Given the description of an element on the screen output the (x, y) to click on. 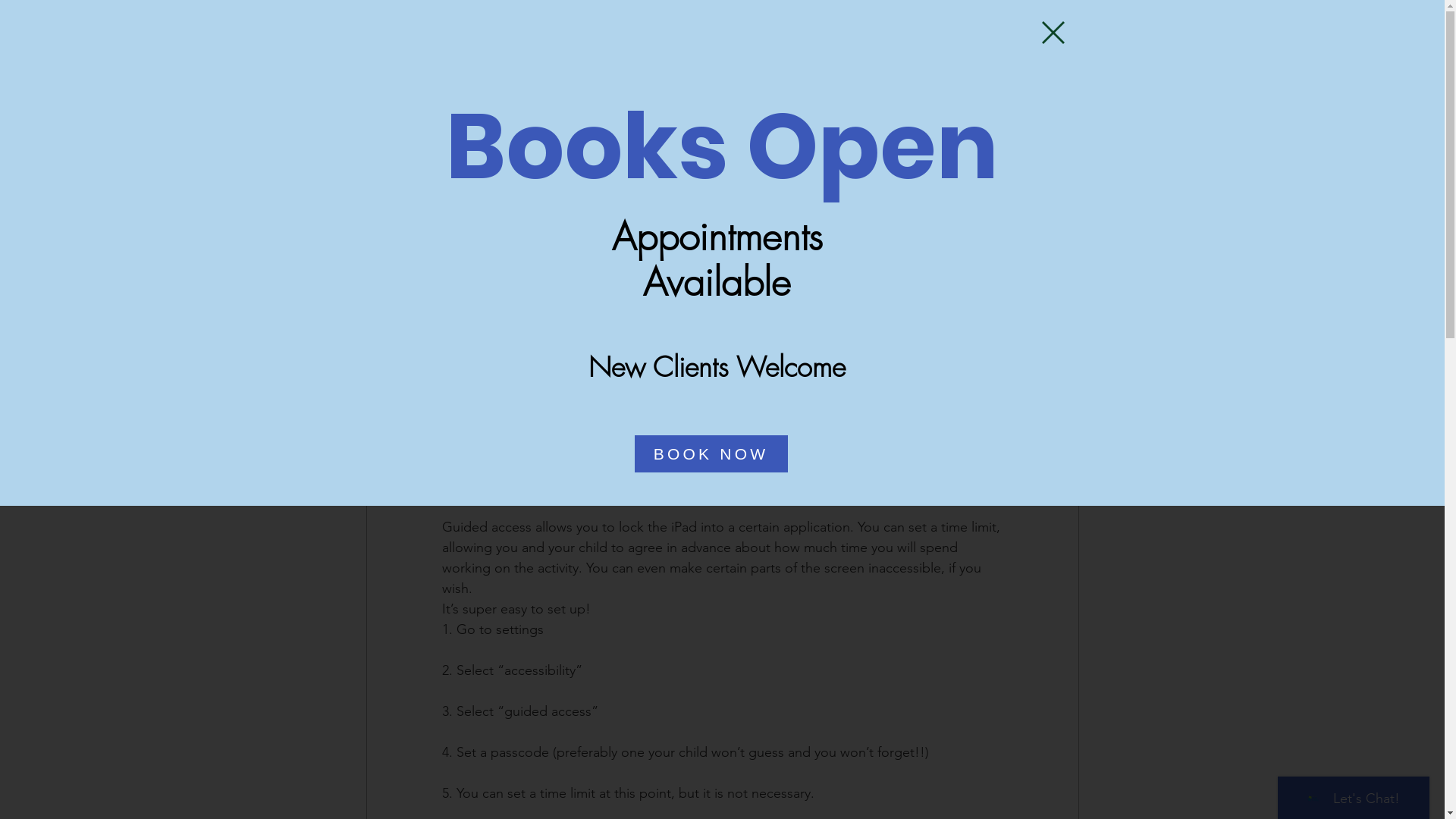
Blog Element type: text (447, 79)
BOOK NOW Element type: text (710, 453)
How can we help? Element type: text (696, 24)
Voice Element type: text (591, 79)
PHONE Element type: text (1147, 22)
All Posts Element type: text (385, 79)
Blog Element type: text (864, 24)
Language Element type: text (736, 79)
Language Element type: text (659, 79)
Disability Element type: text (812, 79)
BOOK NOW Element type: text (1022, 22)
Preschoolers Element type: text (518, 79)
NSP Team Element type: text (489, 183)
What We Do Element type: text (795, 24)
Resources Element type: text (925, 24)
Home Element type: text (523, 24)
Work with us Element type: text (596, 24)
Reading Element type: text (882, 79)
Log In Element type: text (1251, 23)
Back to site Element type: hover (1052, 32)
